Given the description of an element on the screen output the (x, y) to click on. 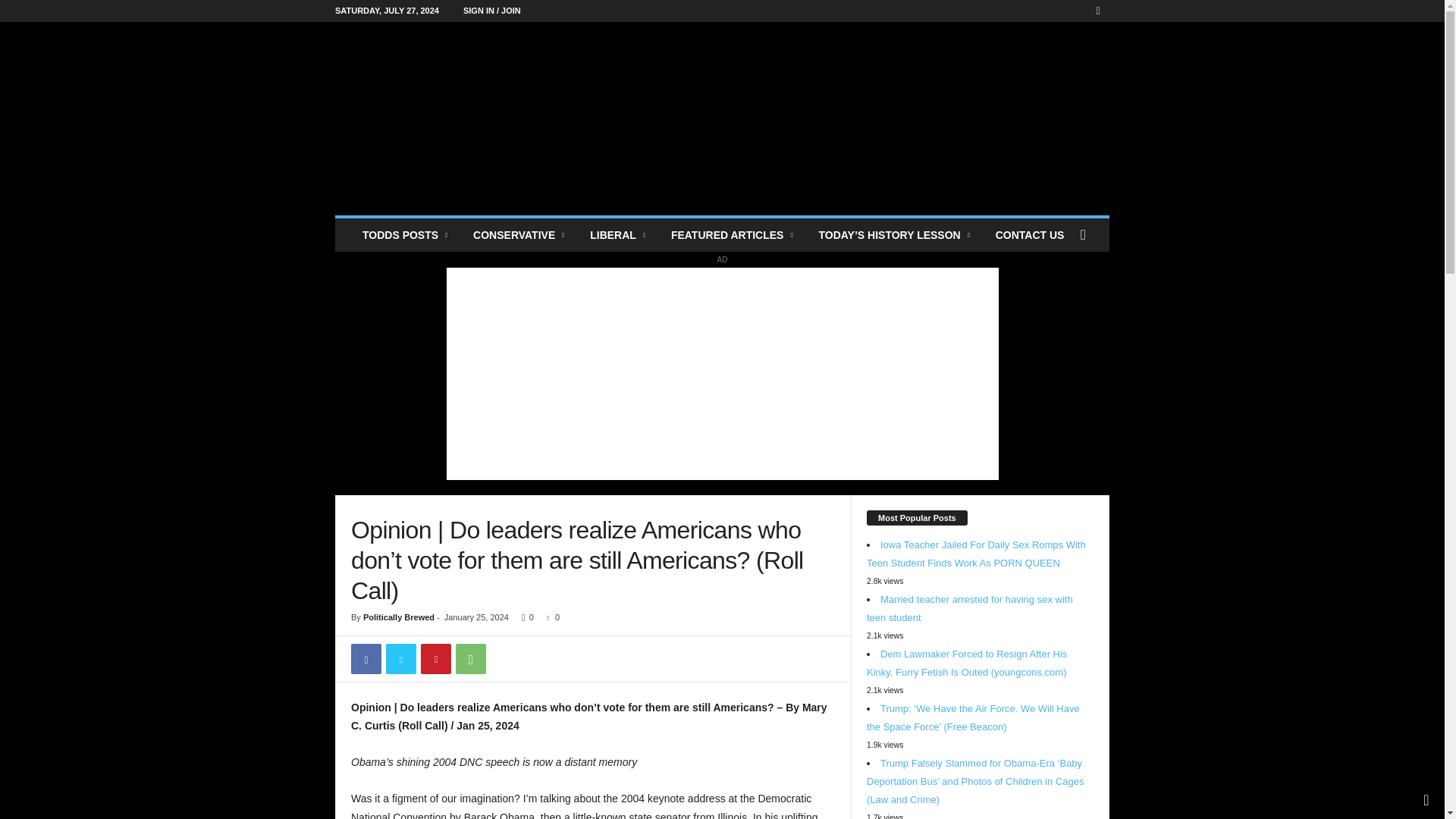
TODDS POSTS (405, 234)
Facebook (1097, 11)
CONSERVATIVE (519, 234)
